Given the description of an element on the screen output the (x, y) to click on. 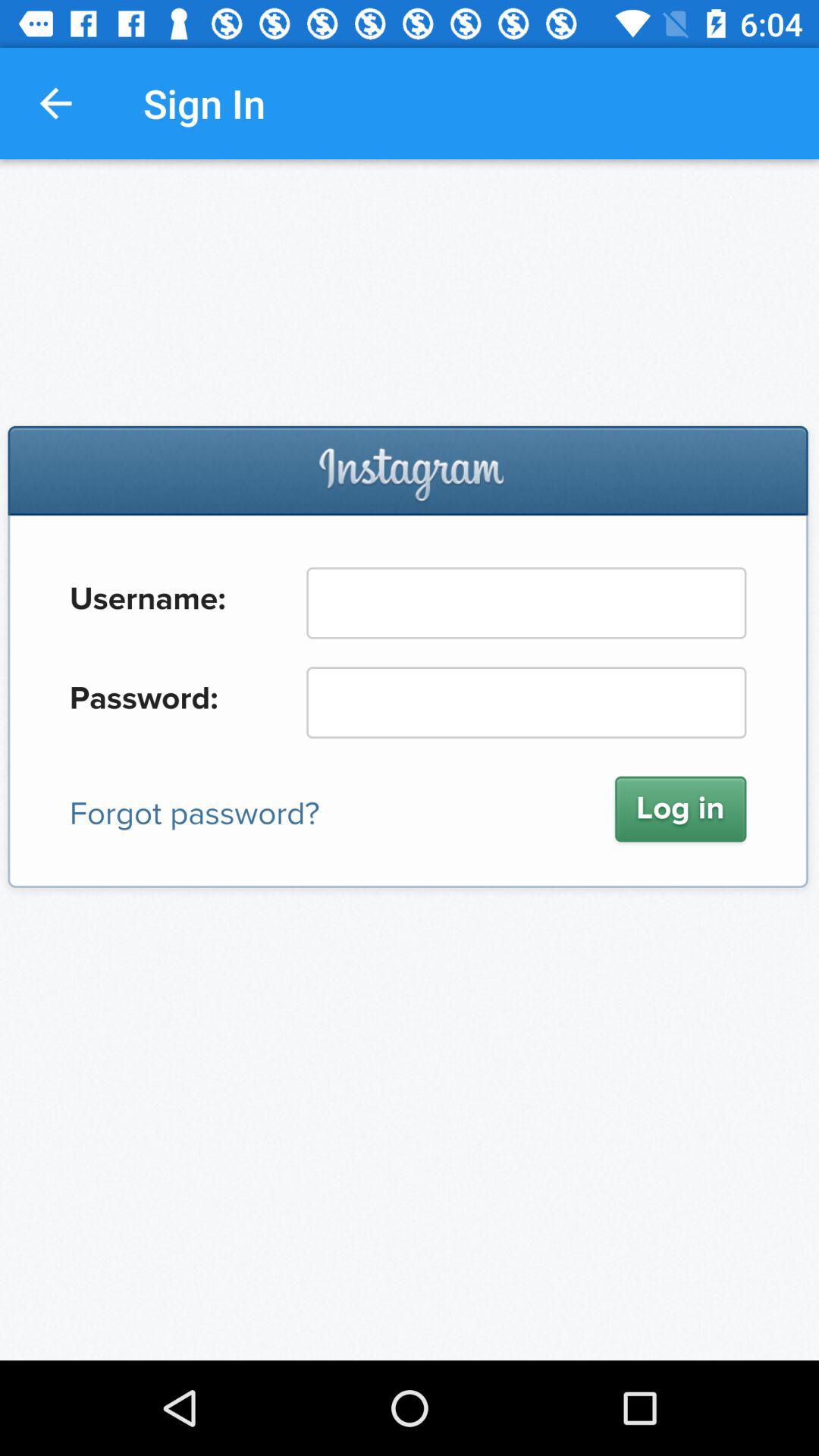
login page (409, 759)
